Given the description of an element on the screen output the (x, y) to click on. 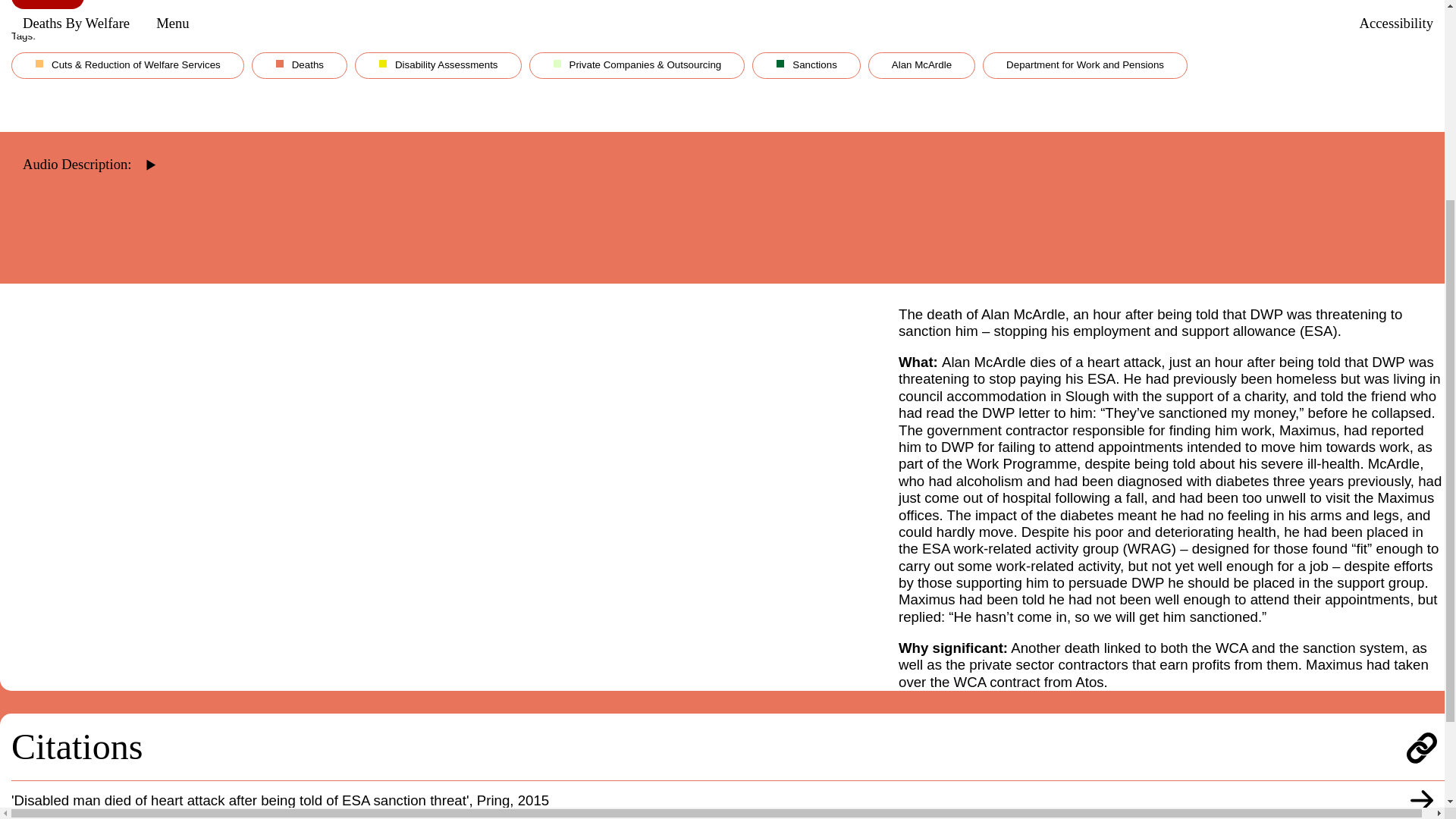
Listen to this page using ReadSpeaker webReader (84, 141)
Audio Description: (84, 141)
Disability Assessments (442, 68)
Alan McArdle (924, 68)
Department for Work and Pensions (1088, 68)
Sanctions (809, 68)
Deaths (303, 68)
